Given the description of an element on the screen output the (x, y) to click on. 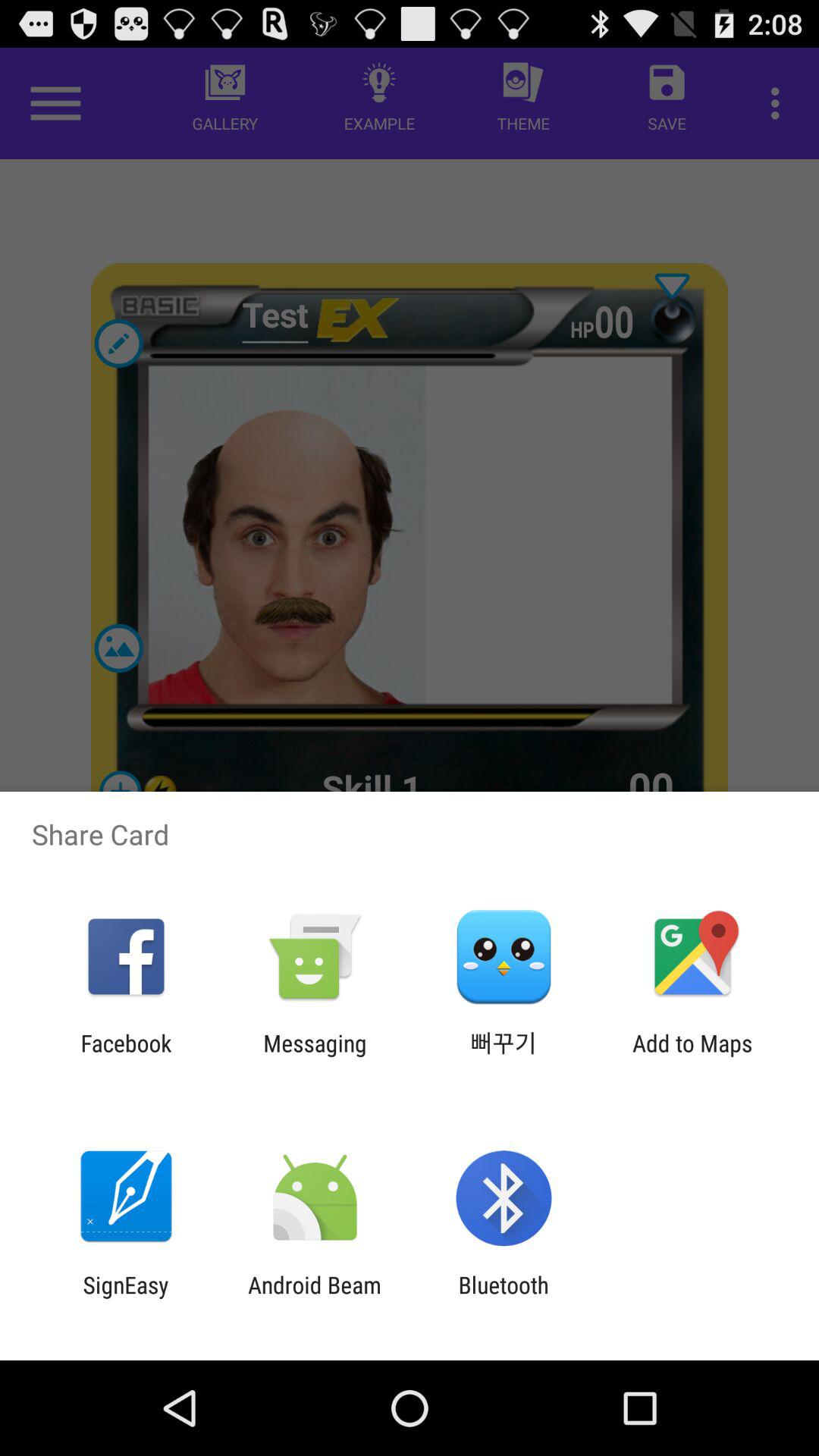
choose facebook (125, 1056)
